Given the description of an element on the screen output the (x, y) to click on. 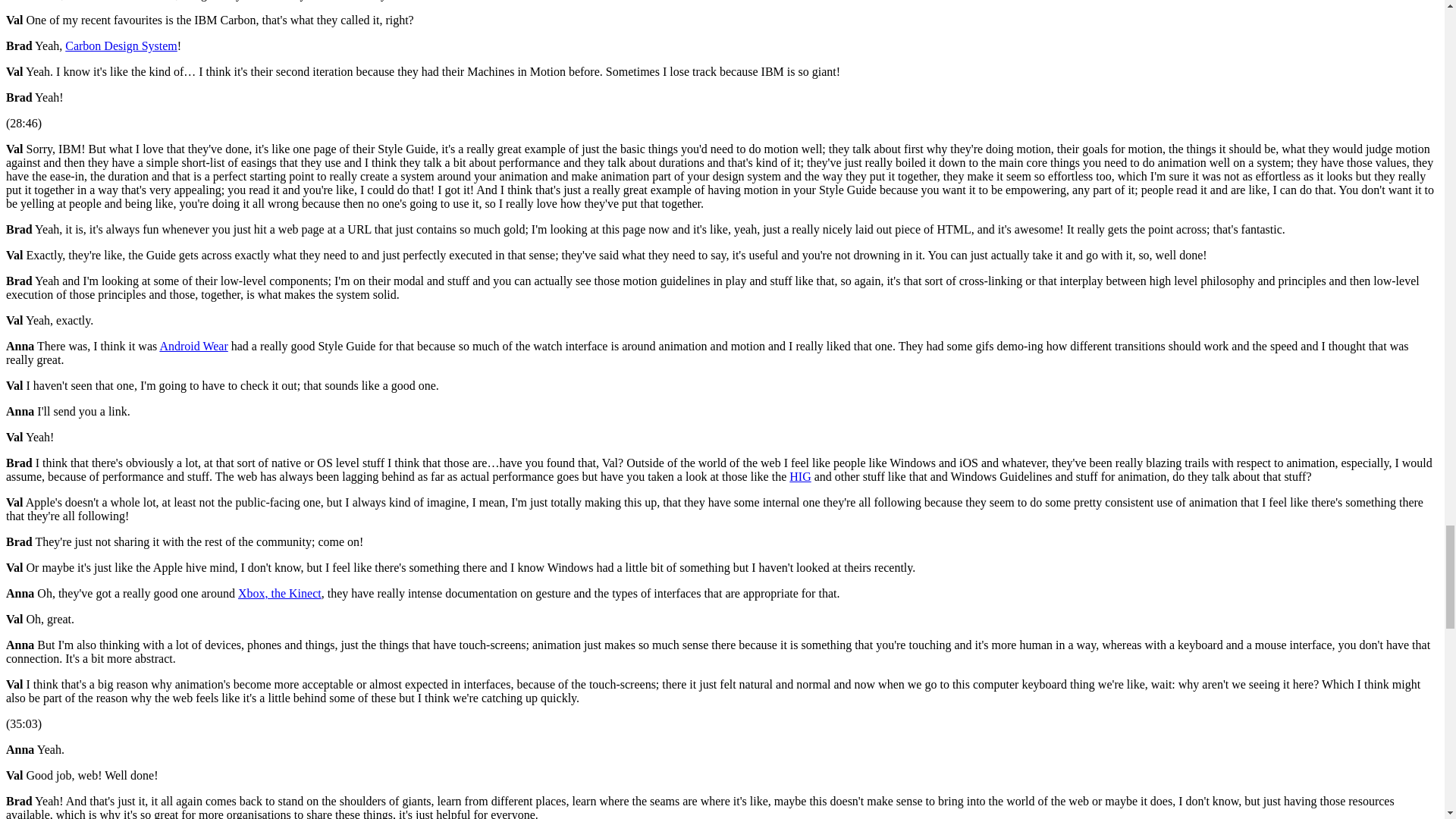
Intuit's (681, 262)
